Given the description of an element on the screen output the (x, y) to click on. 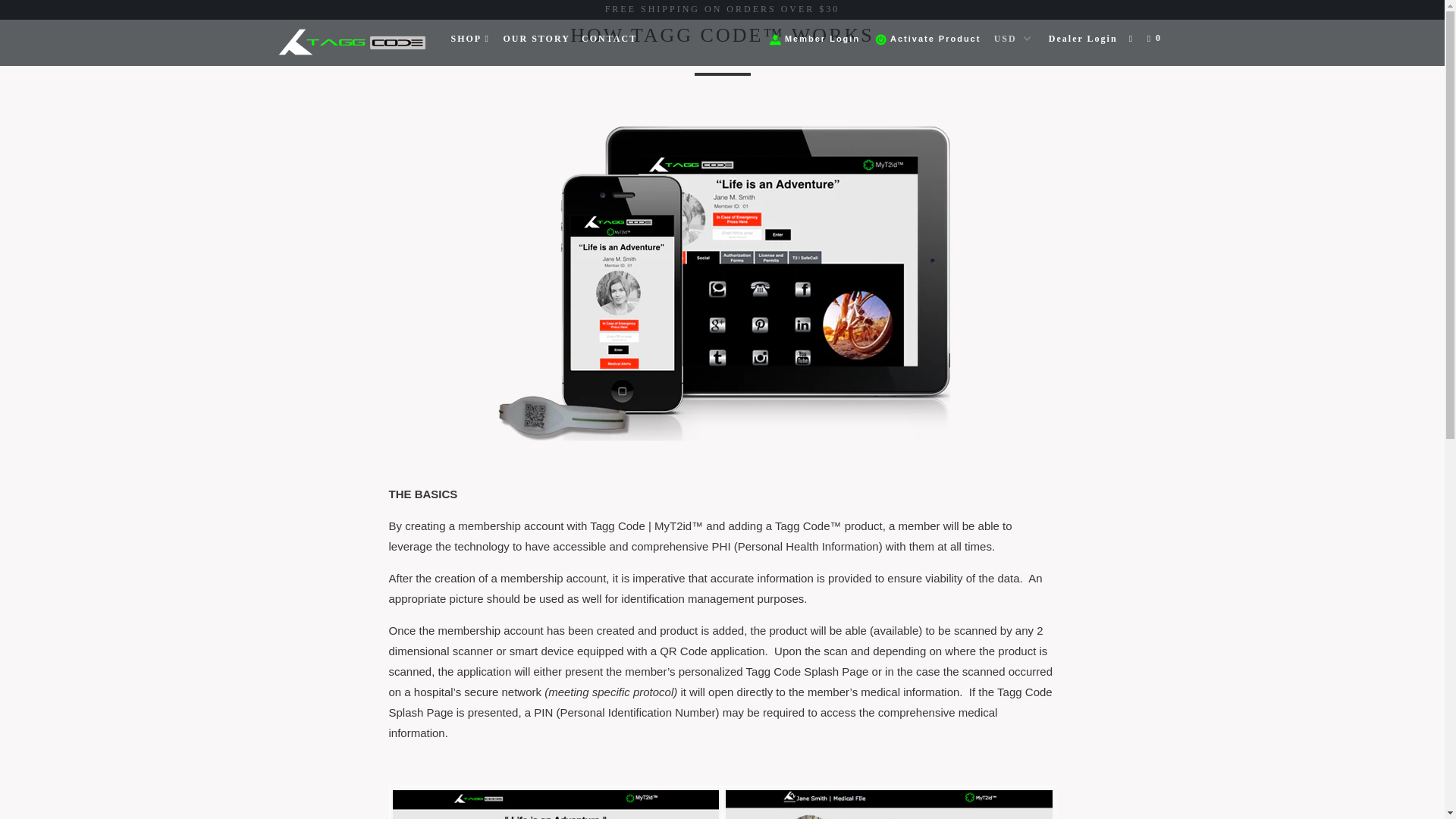
Activate Product (929, 39)
Dealer Login (1083, 38)
Tagg Code (352, 42)
CONTACT (609, 38)
0 (1155, 38)
My Account  (1083, 38)
 Member Login  (816, 39)
Member Login (816, 39)
SHOP (470, 38)
 Activate Product  (929, 39)
